Given the description of an element on the screen output the (x, y) to click on. 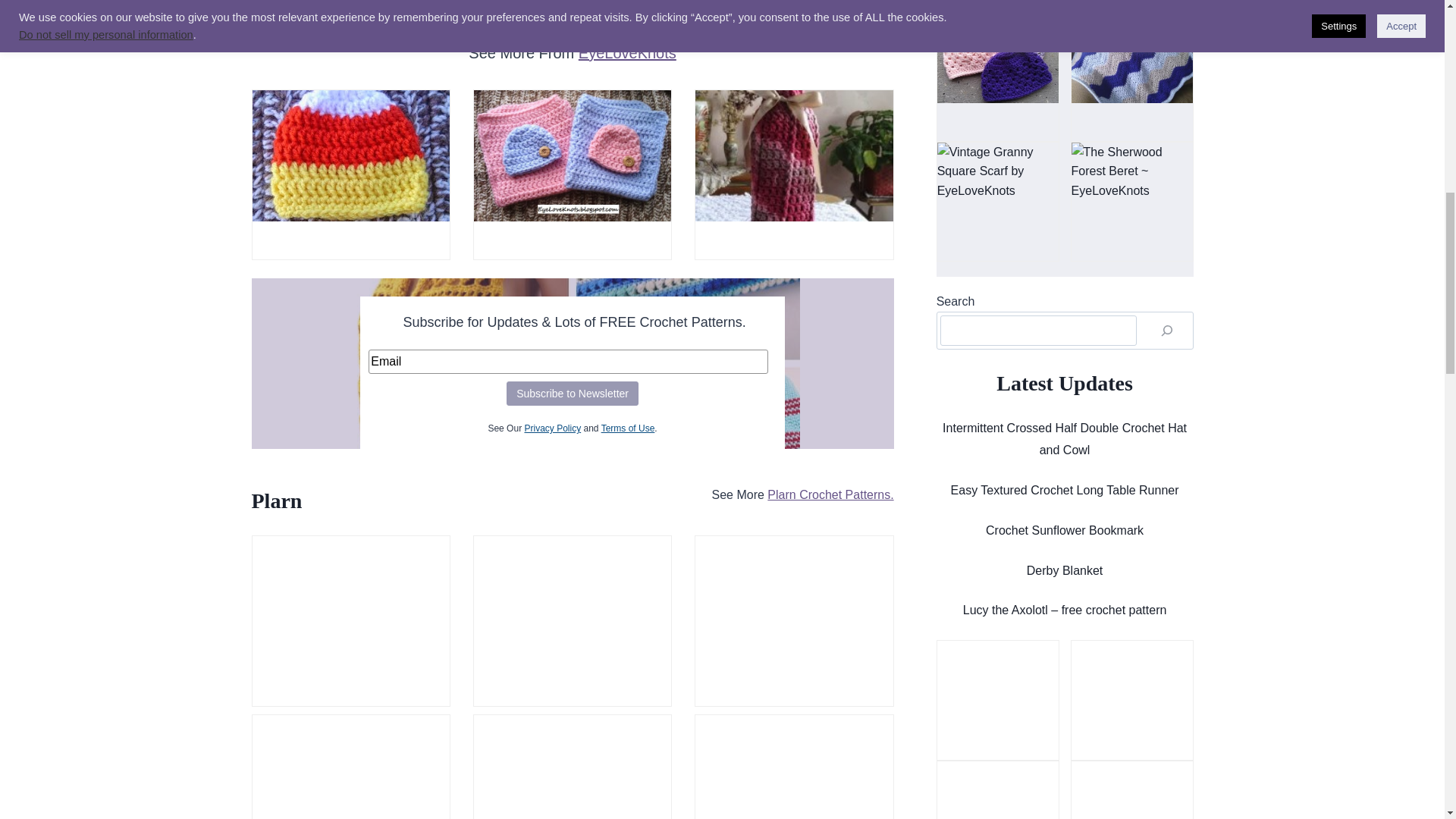
Subscribe to Newsletter (572, 393)
Email (568, 361)
Terms of Use (628, 428)
Privacy Policy (552, 428)
